Given the description of an element on the screen output the (x, y) to click on. 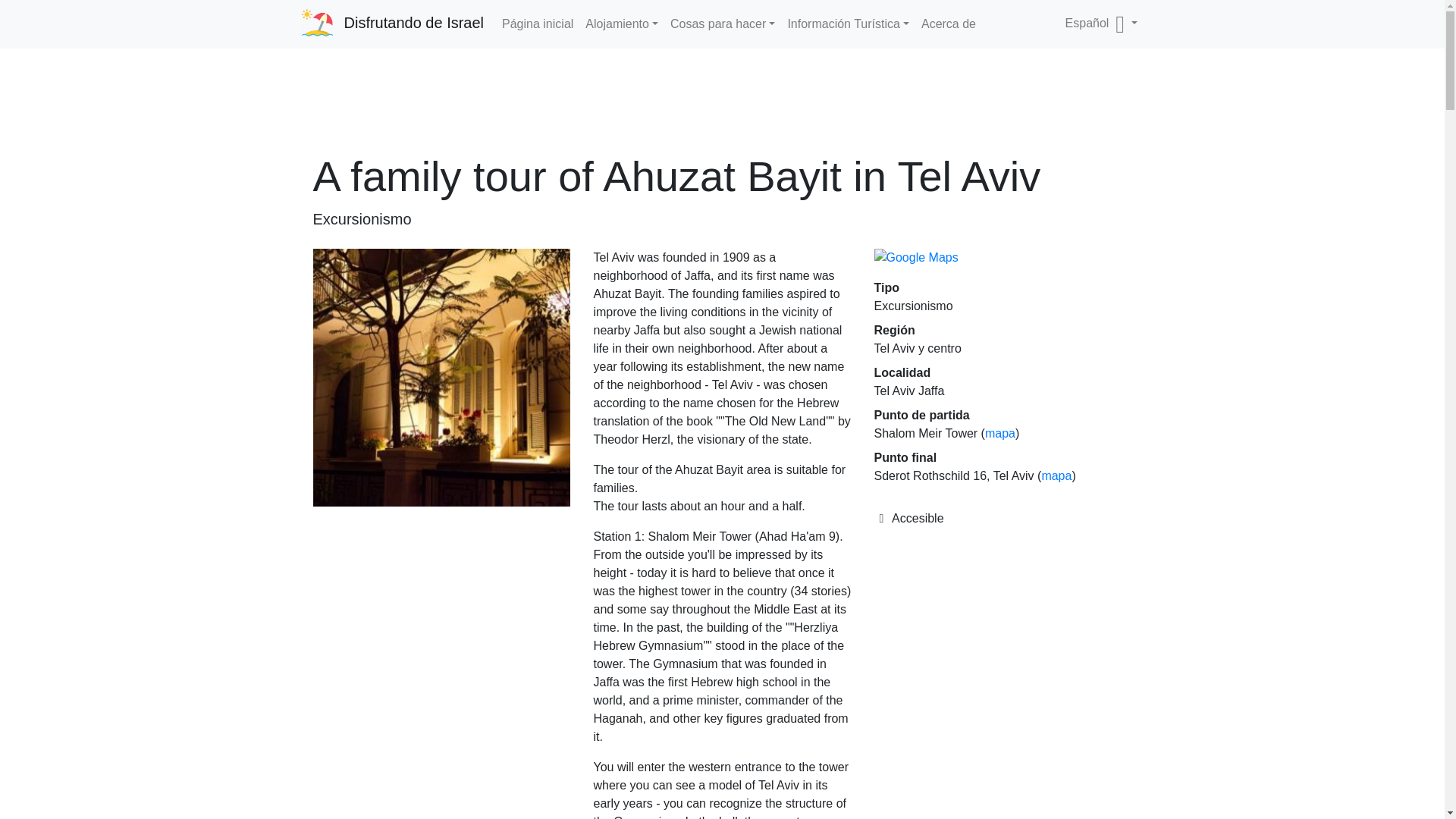
mapa (999, 432)
Advertisement (722, 105)
Alojamiento (621, 24)
mapa (1056, 475)
Cosas para hacer (721, 24)
Acerca de (948, 24)
Disfrutando de Israel (392, 22)
